Given the description of an element on the screen output the (x, y) to click on. 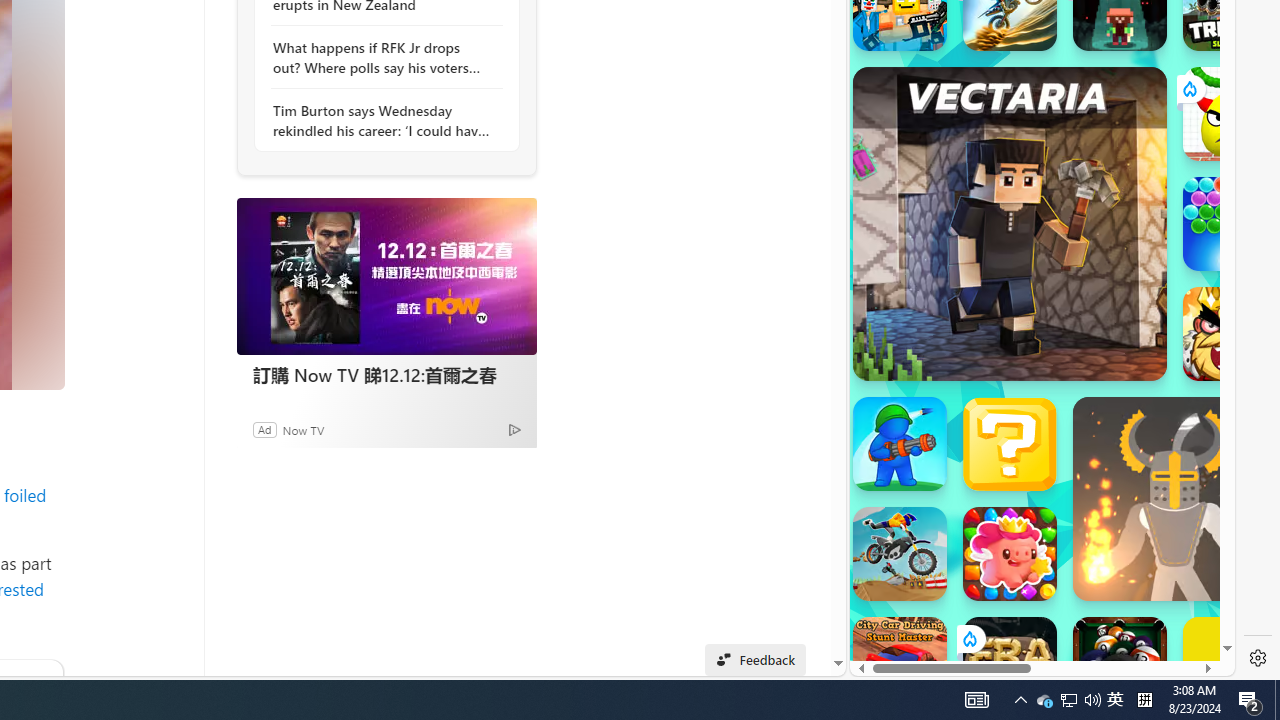
8 Ball Pool With Buddies 8 Ball Pool With Buddies (1119, 664)
Like a King (1229, 333)
Search results from poki.com (1005, 59)
Now TV (303, 429)
Draw To Smash: Logic Puzzle Draw To Smash: Logic Puzzle (1229, 113)
Ragdoll Hit (1174, 498)
Bubble Shooter Bubble Shooter (1229, 223)
Combat Reloaded (1090, 290)
Era: Evolution (1009, 664)
Ragdoll Hit (1174, 498)
Vectaria.io (1009, 223)
8 Ball Pool With Buddies (1119, 664)
